Given the description of an element on the screen output the (x, y) to click on. 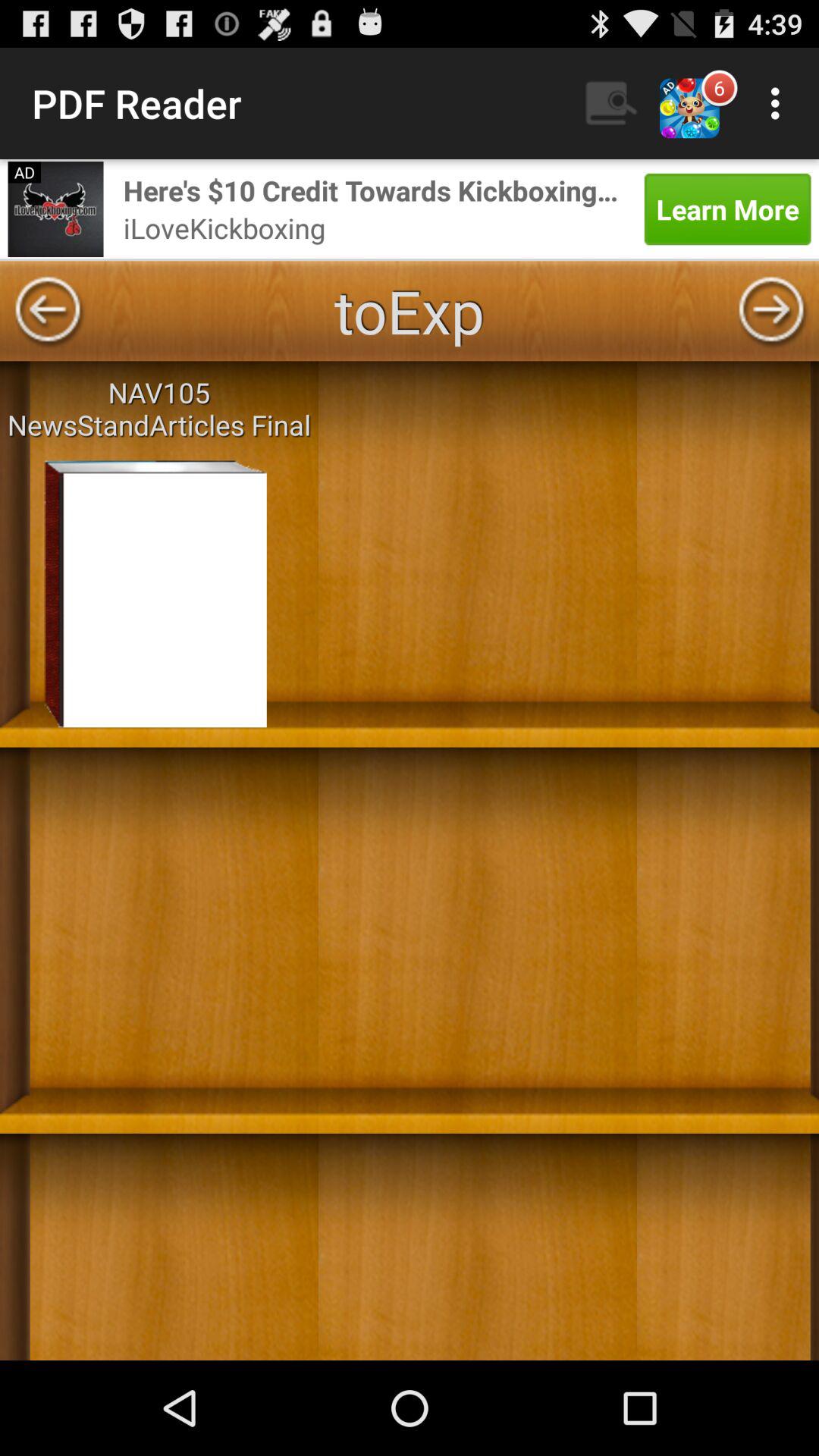
advertisements (55, 209)
